Given the description of an element on the screen output the (x, y) to click on. 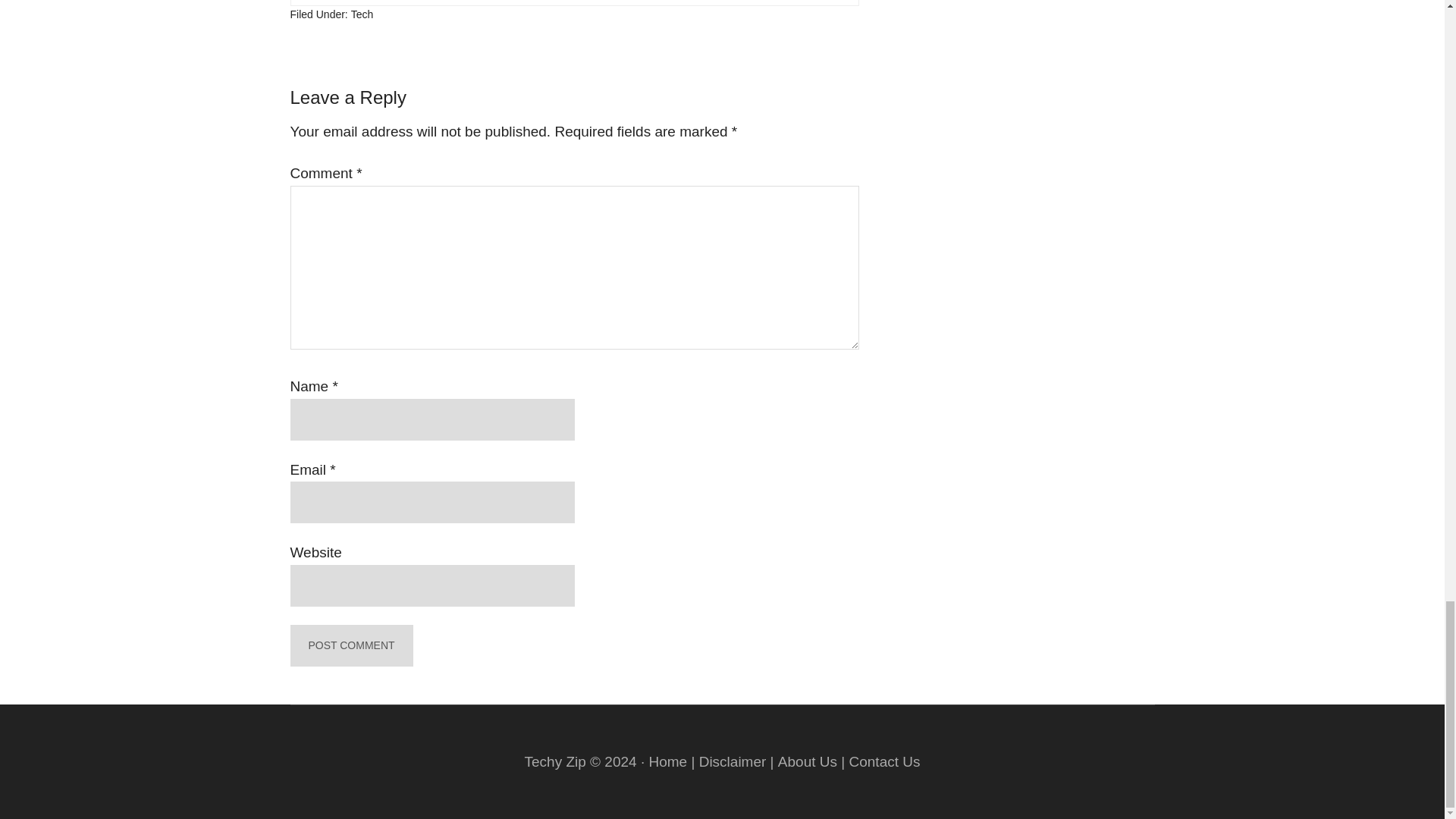
Post Comment (350, 645)
About Us (807, 761)
Tech (362, 14)
Home (667, 761)
Disclaimer (732, 761)
Post Comment (350, 645)
Contact Us (884, 761)
